Given the description of an element on the screen output the (x, y) to click on. 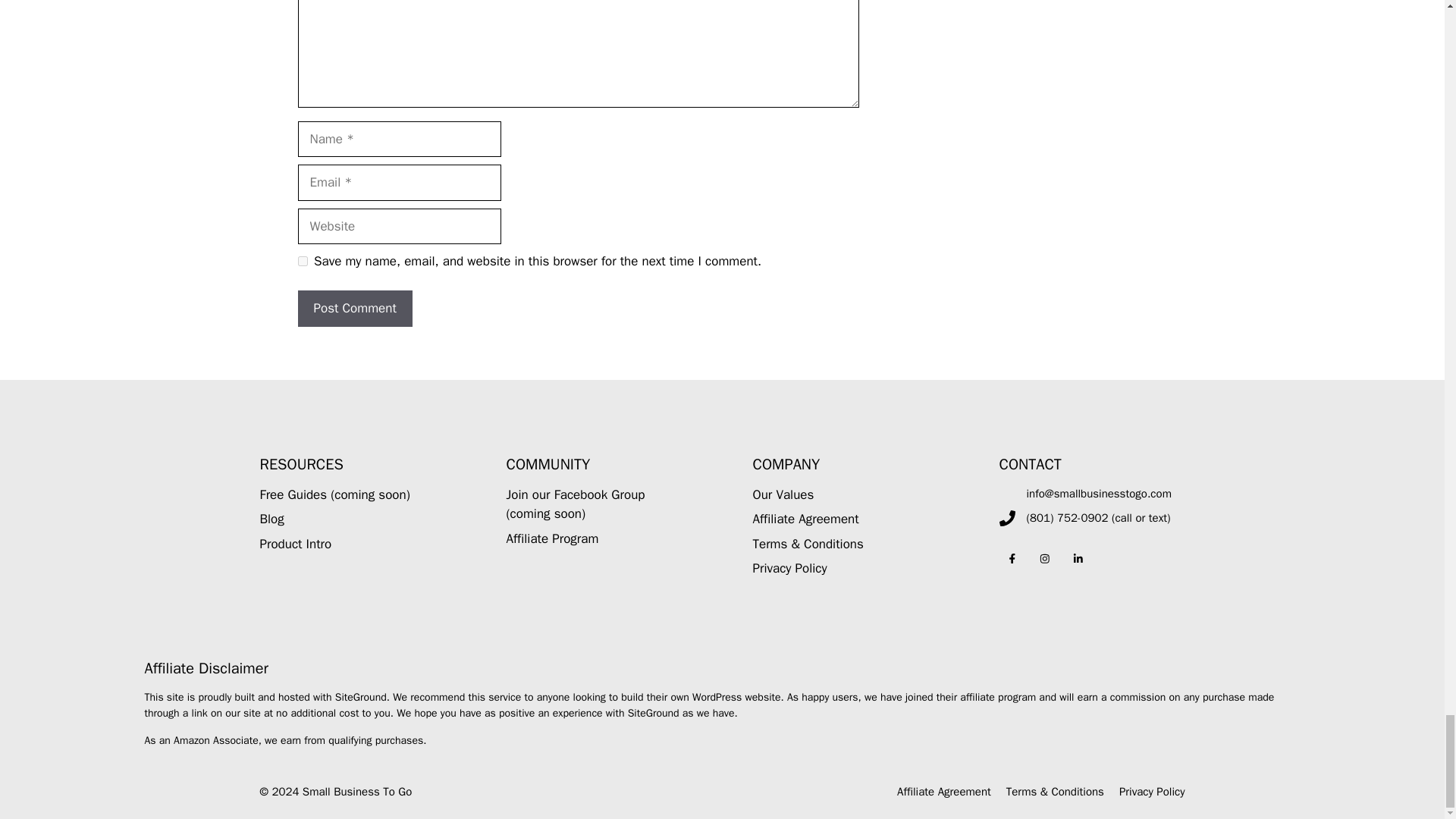
Post Comment (354, 308)
Post Comment (354, 308)
yes (302, 261)
